Given the description of an element on the screen output the (x, y) to click on. 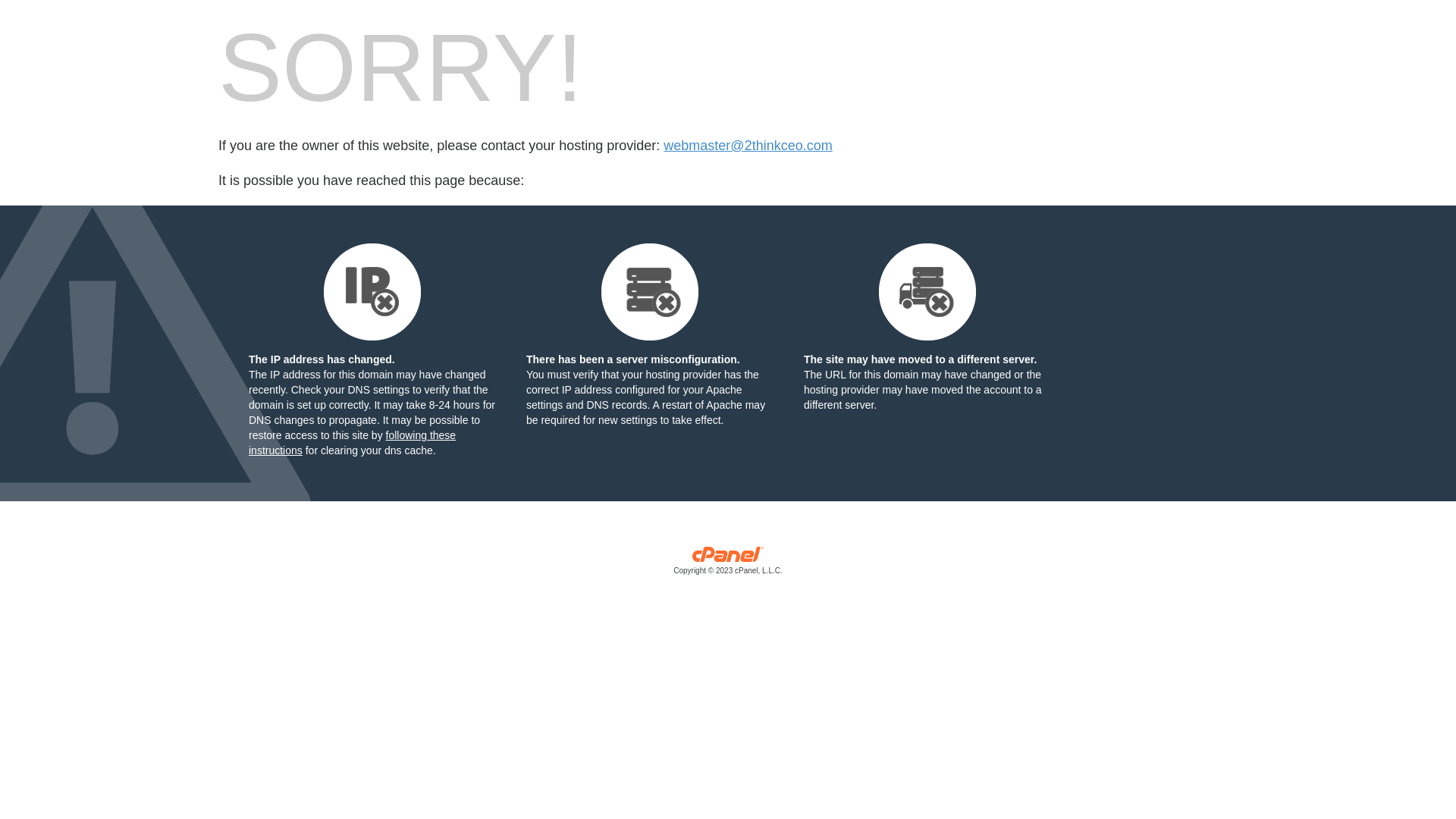
following these instructions Element type: text (351, 442)
webmaster@2thinkceo.com Element type: text (747, 145)
